Given the description of an element on the screen output the (x, y) to click on. 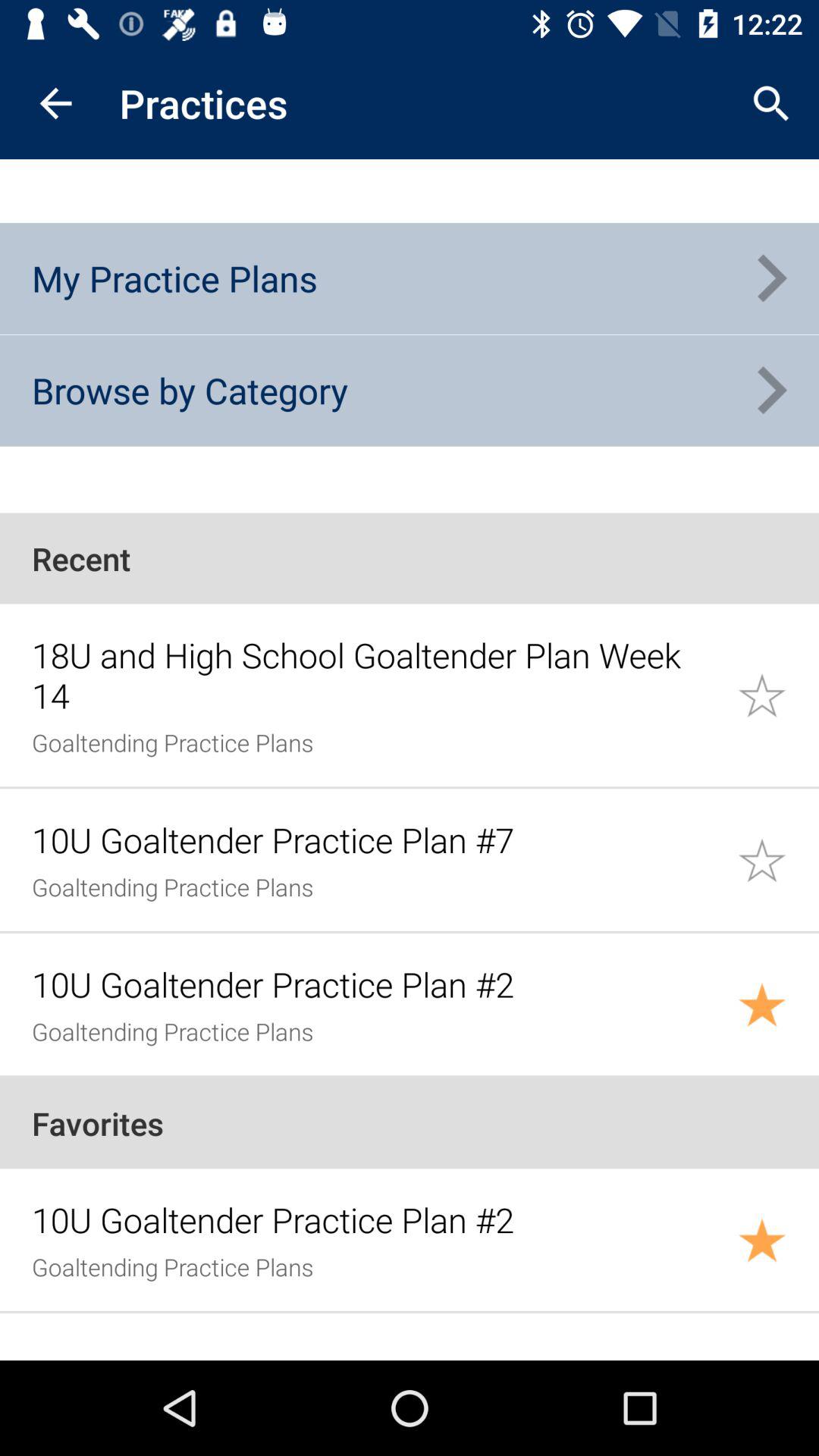
click item above the recent (189, 390)
